Given the description of an element on the screen output the (x, y) to click on. 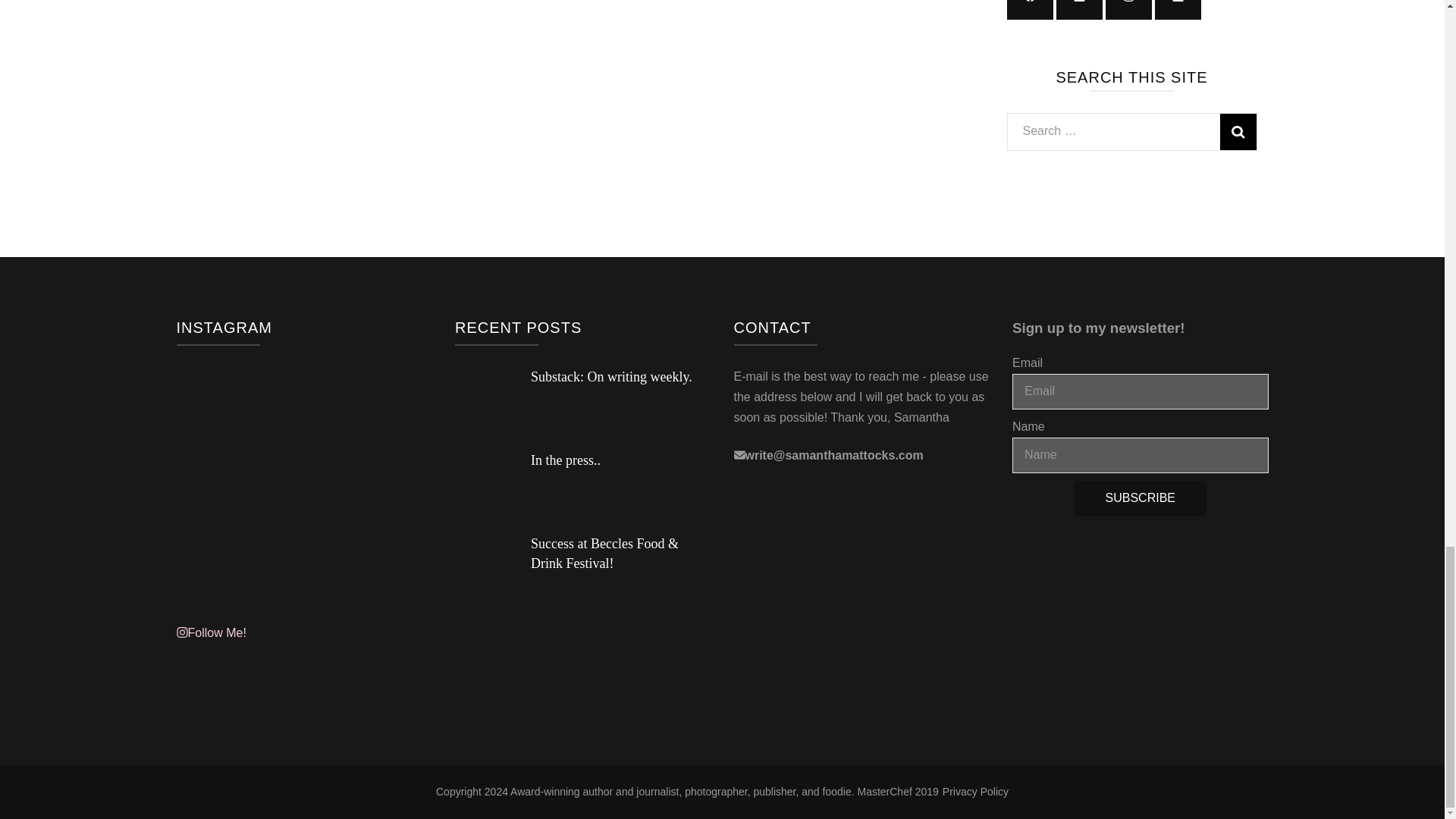
Search (1237, 131)
Search (1237, 131)
